Given the description of an element on the screen output the (x, y) to click on. 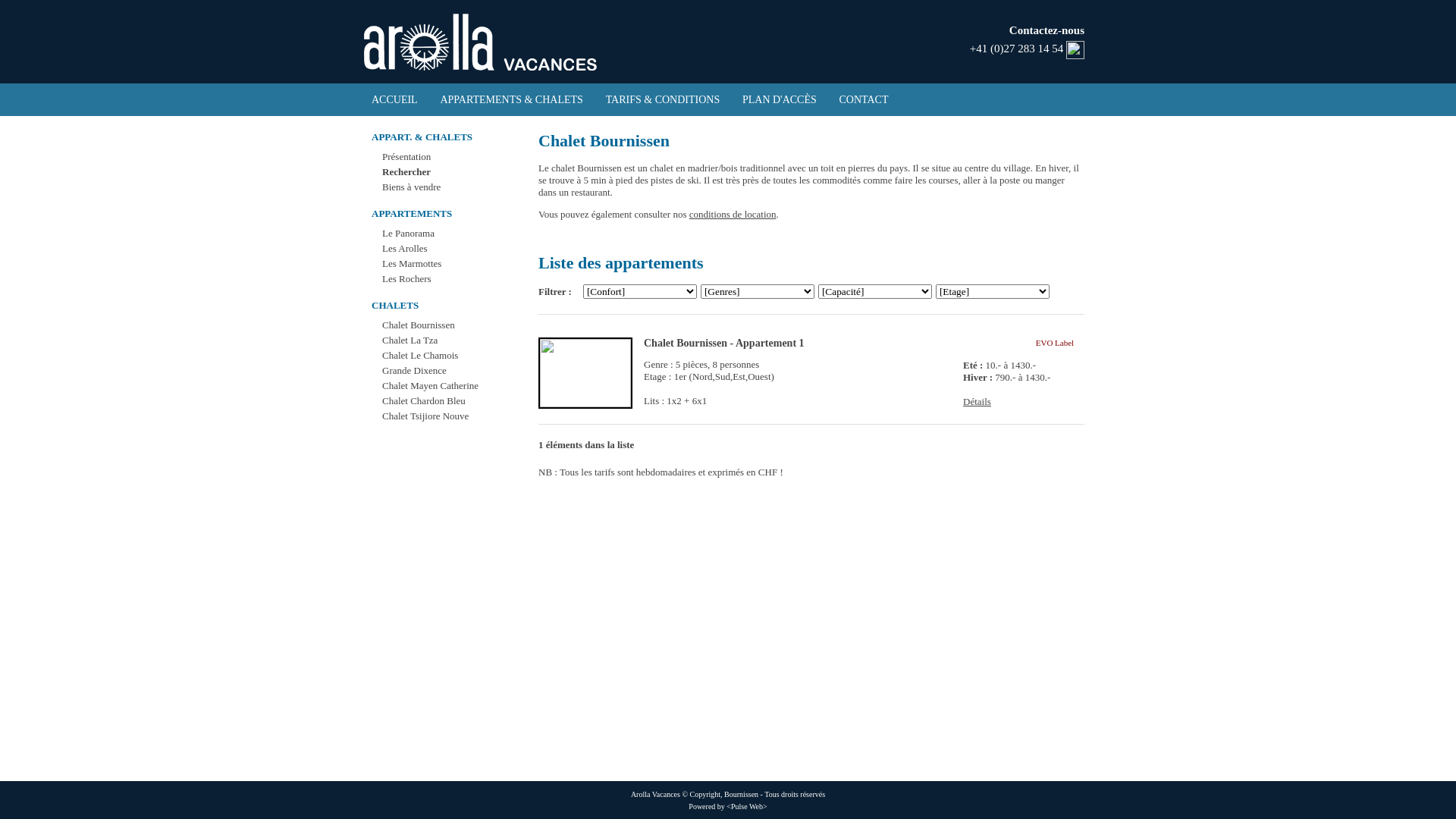
Chalet Le Chamois Element type: text (420, 354)
conditions de location Element type: text (732, 213)
Les Rochers Element type: text (406, 278)
ACCUEIL Element type: text (394, 99)
Les Marmottes Element type: text (411, 263)
Chalet Mayen Catherine Element type: text (430, 385)
Chalet La Tza Element type: text (409, 339)
Le Panorama Element type: text (408, 232)
Rechercher Element type: text (406, 171)
Chalet Chardon Bleu Element type: text (423, 400)
Grande Dixence Element type: text (414, 370)
Chalet Bournissen Element type: text (418, 324)
CONTACT Element type: text (863, 99)
Chalet Bournissen - Appartement 1 Element type: text (723, 342)
Chalet Tsijiore Nouve Element type: text (425, 415)
TARIFS & CONDITIONS Element type: text (663, 99)
Powered by <Pulse Web> Element type: text (727, 806)
Les Arolles Element type: text (404, 248)
APPARTEMENTS & CHALETS Element type: text (510, 99)
